Given the description of an element on the screen output the (x, y) to click on. 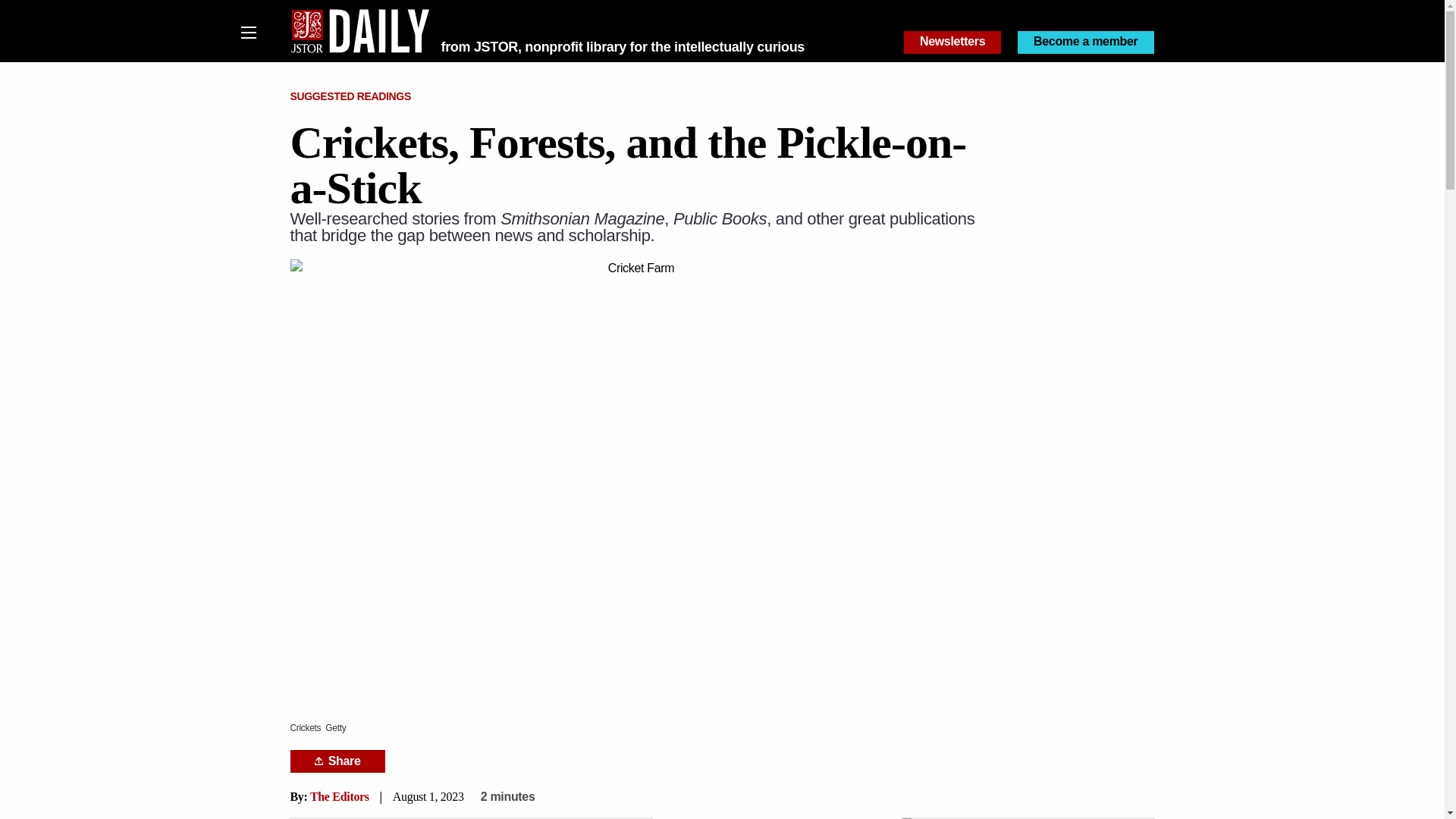
Newsletters (952, 42)
from JSTOR, nonprofit library for the intellectually curious (623, 46)
Become a member (1085, 42)
